Given the description of an element on the screen output the (x, y) to click on. 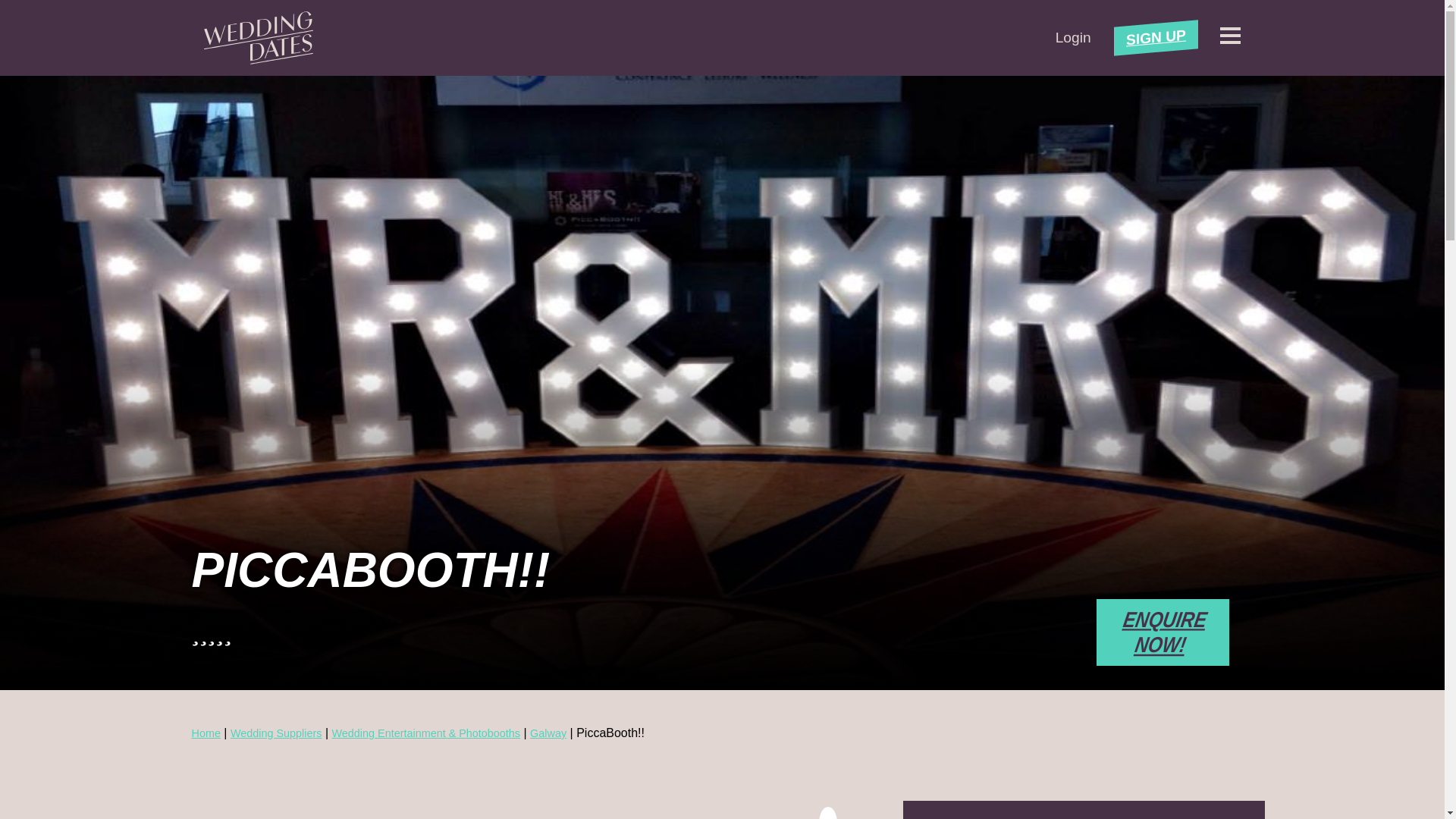
weddingdates (258, 37)
Wedding Suppliers (275, 733)
Home (204, 733)
SIGN UP (1155, 33)
ENQUIRE NOW! (1162, 631)
Login (1072, 37)
